Given the description of an element on the screen output the (x, y) to click on. 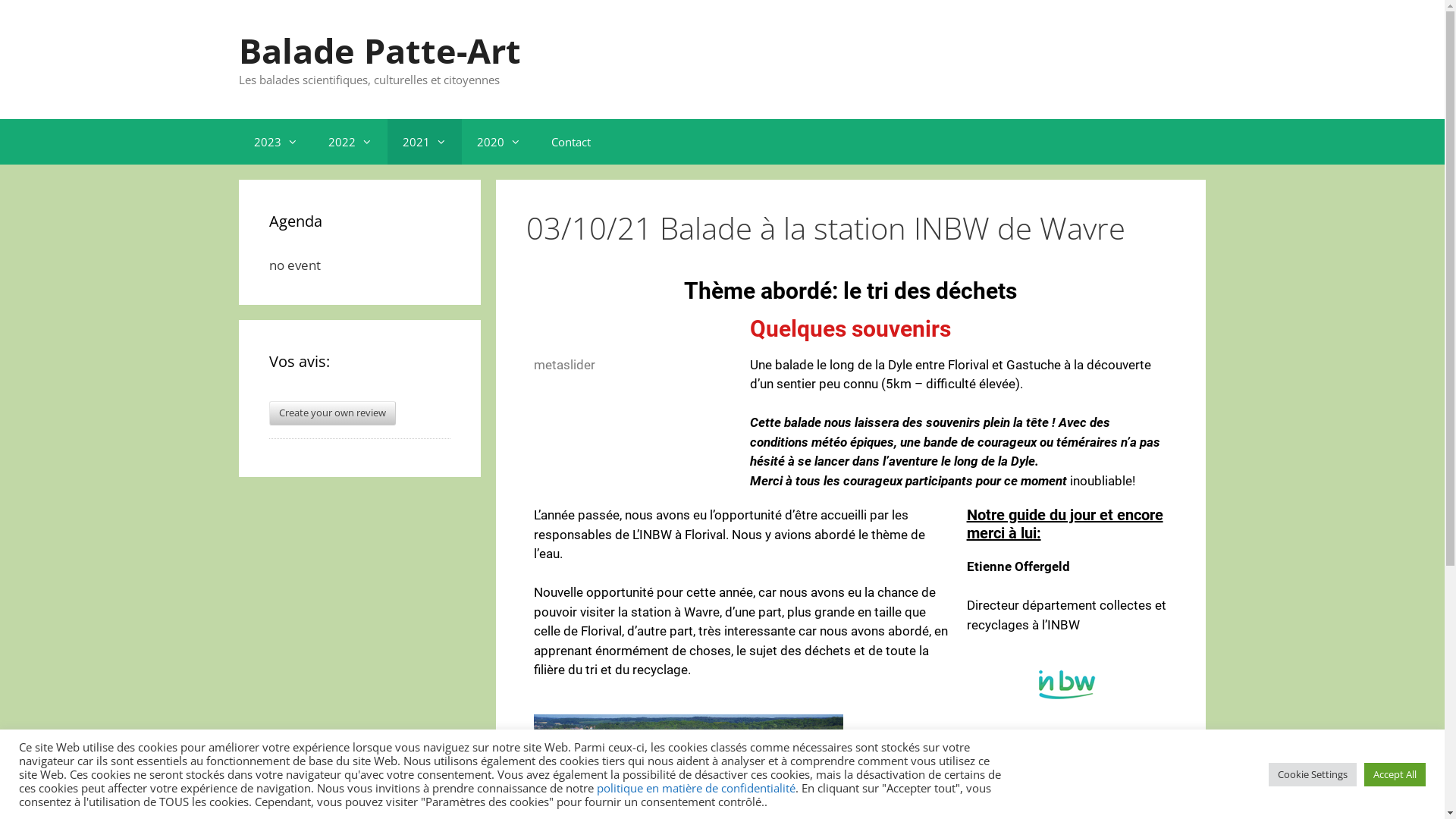
2020 Element type: text (498, 140)
Balade Patte-Art Element type: text (379, 50)
Contact Element type: text (570, 140)
2023 Element type: text (275, 140)
2021 Element type: text (424, 140)
2022 Element type: text (350, 140)
Cookie Settings Element type: text (1312, 774)
Accept All Element type: text (1394, 774)
